Given the description of an element on the screen output the (x, y) to click on. 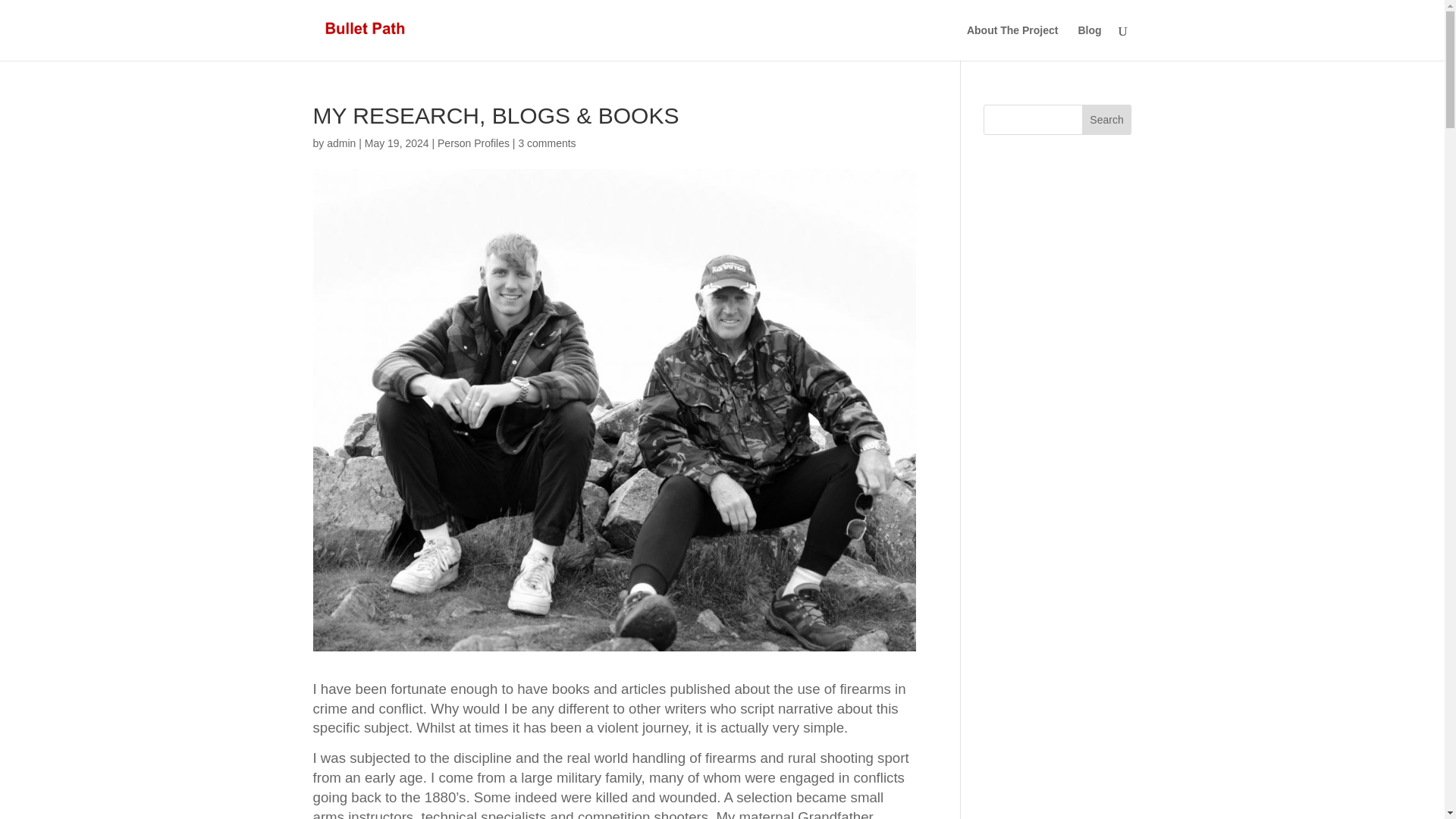
Person Profiles (473, 143)
Posts by admin (340, 143)
3 comments (546, 143)
Search (1106, 119)
About The Project (1012, 42)
admin (340, 143)
Search (1106, 119)
